Given the description of an element on the screen output the (x, y) to click on. 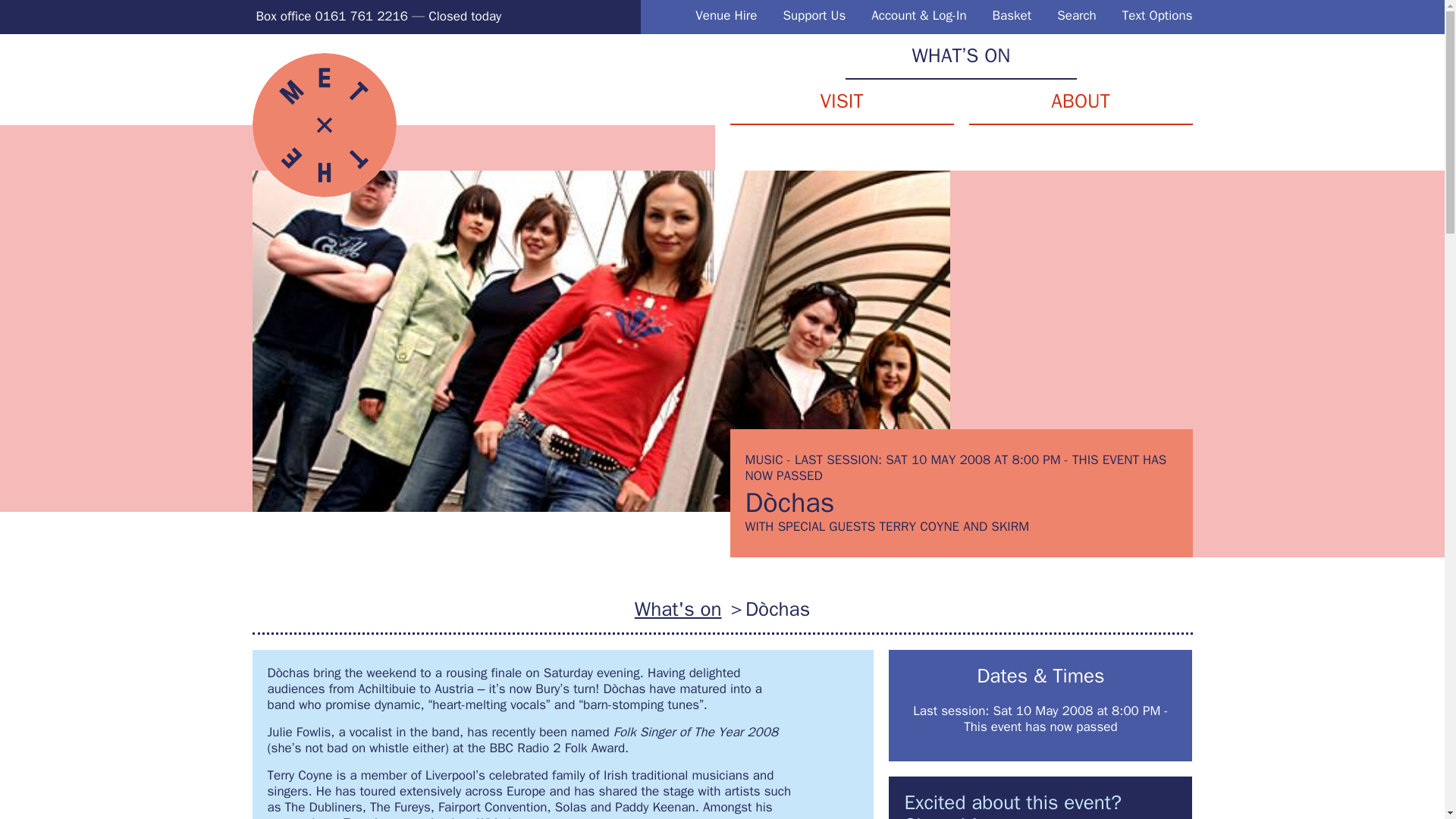
Support Us (814, 15)
ABOUT (1080, 102)
Search (1076, 15)
What's on (678, 609)
Venue Hire (726, 15)
Basket (1012, 15)
Box office 0161 761 2216 (331, 16)
VISIT (841, 102)
Closed today (464, 16)
Text Options (1157, 15)
